Given the description of an element on the screen output the (x, y) to click on. 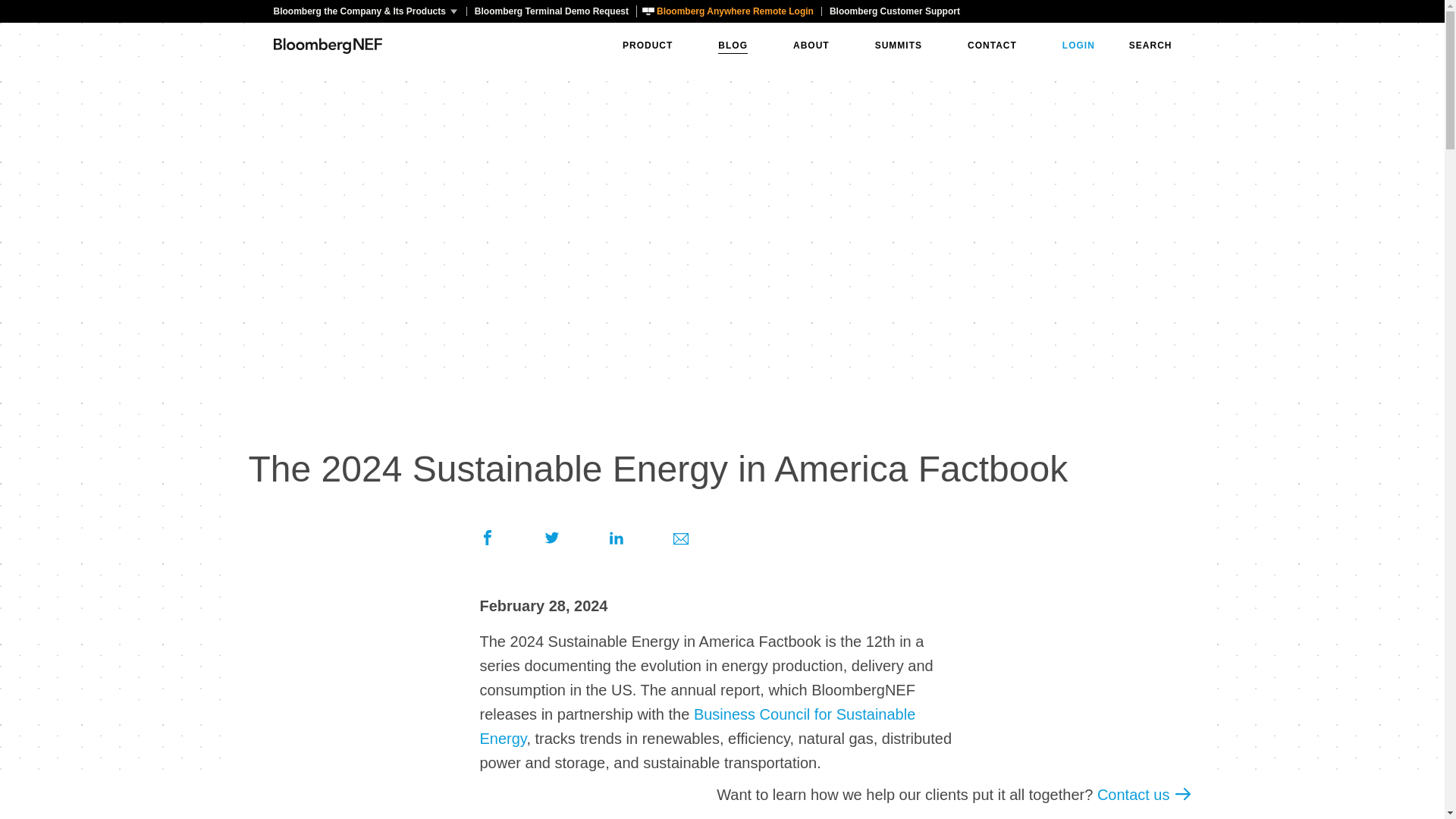
Bloomberg Customer Support (894, 10)
Bloomberg Anywhere Remote Login (728, 10)
Bloomberg Terminal Demo Request (550, 10)
